Given the description of an element on the screen output the (x, y) to click on. 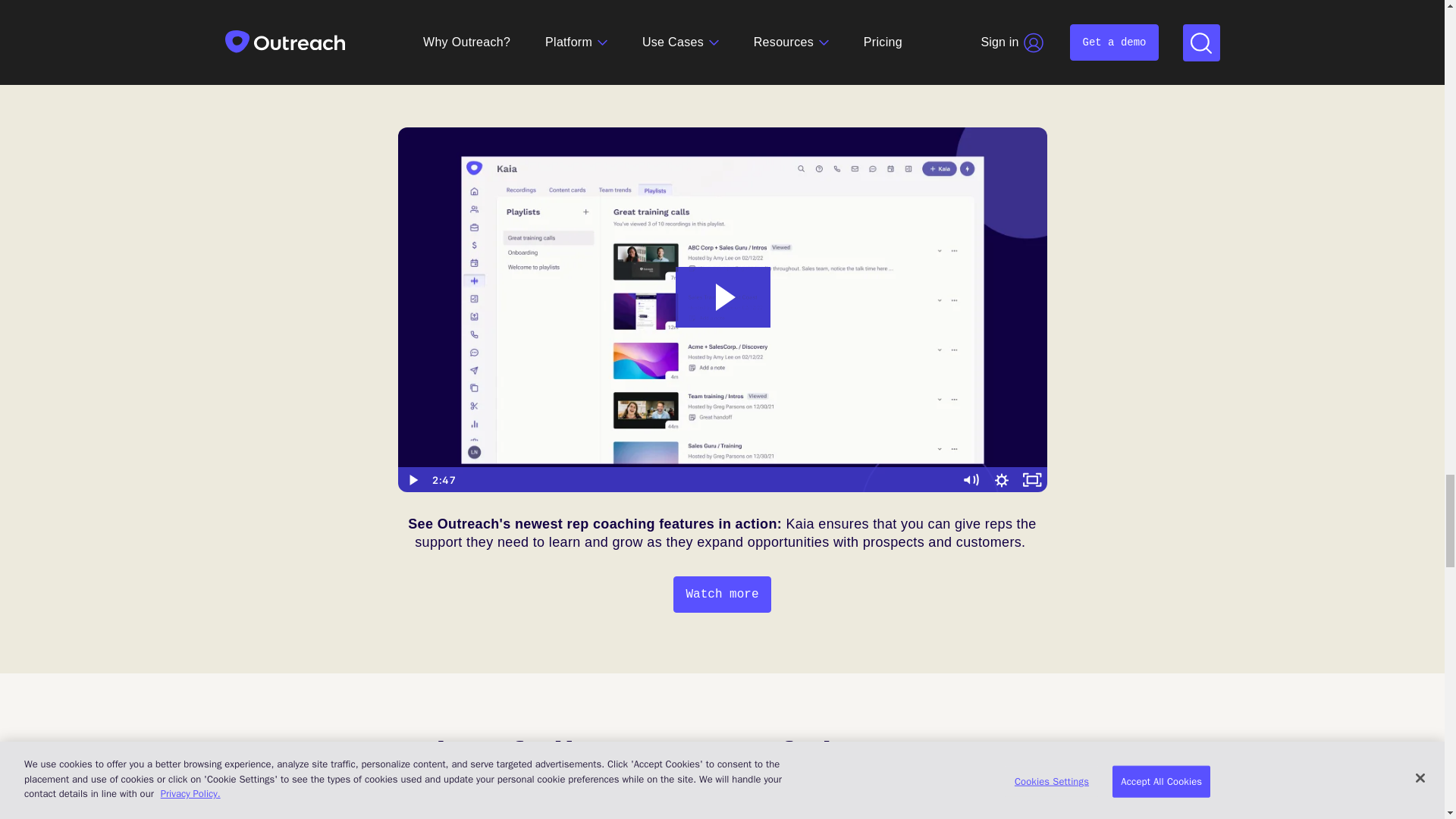
Watch more (721, 594)
